Given the description of an element on the screen output the (x, y) to click on. 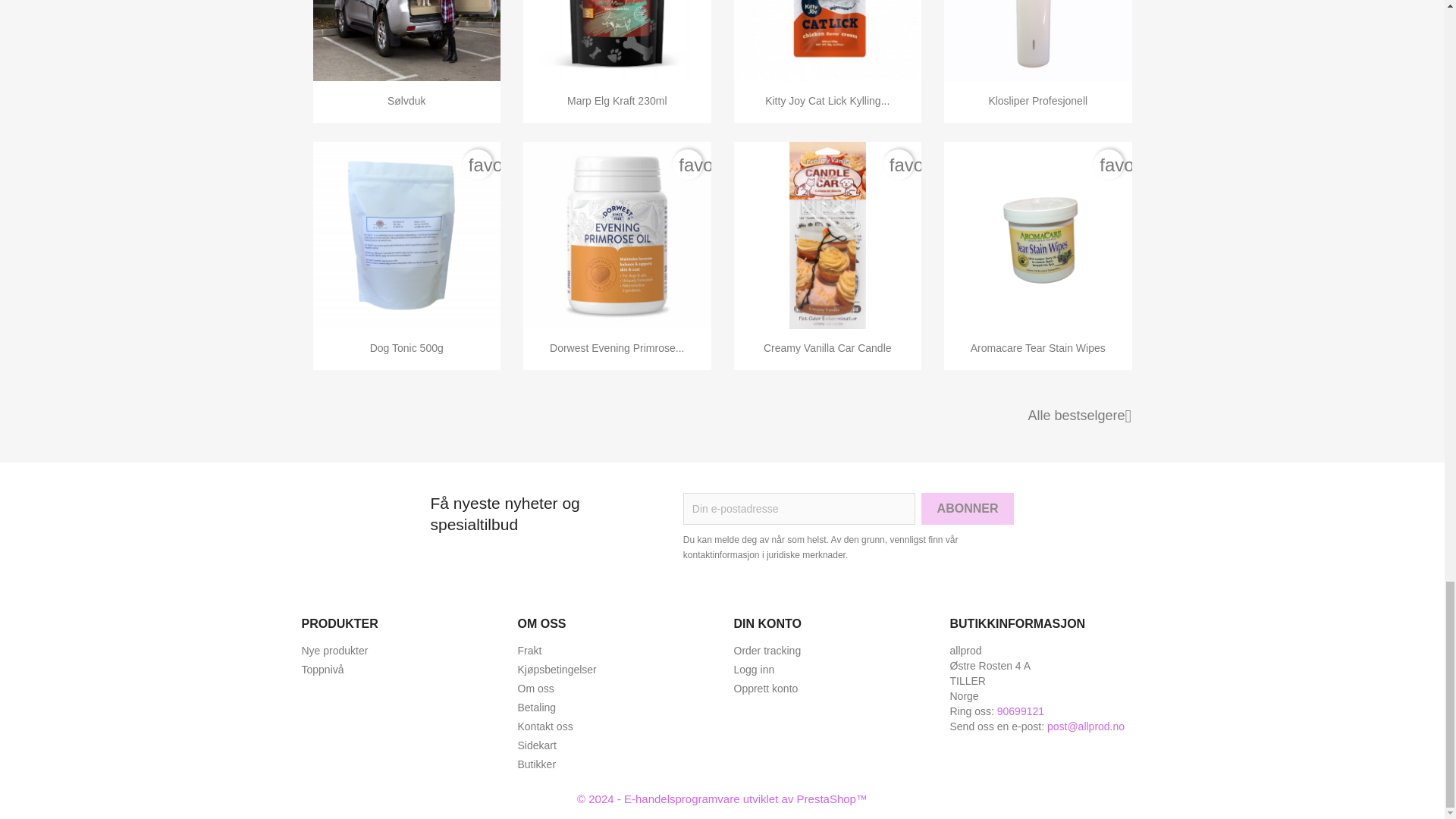
Logg inn med din kundekonto (753, 669)
Finn det du leter etter (536, 745)
Opprett konto (765, 688)
Order tracking (767, 650)
Frakt og retur (528, 650)
Abonner (967, 508)
